Given the description of an element on the screen output the (x, y) to click on. 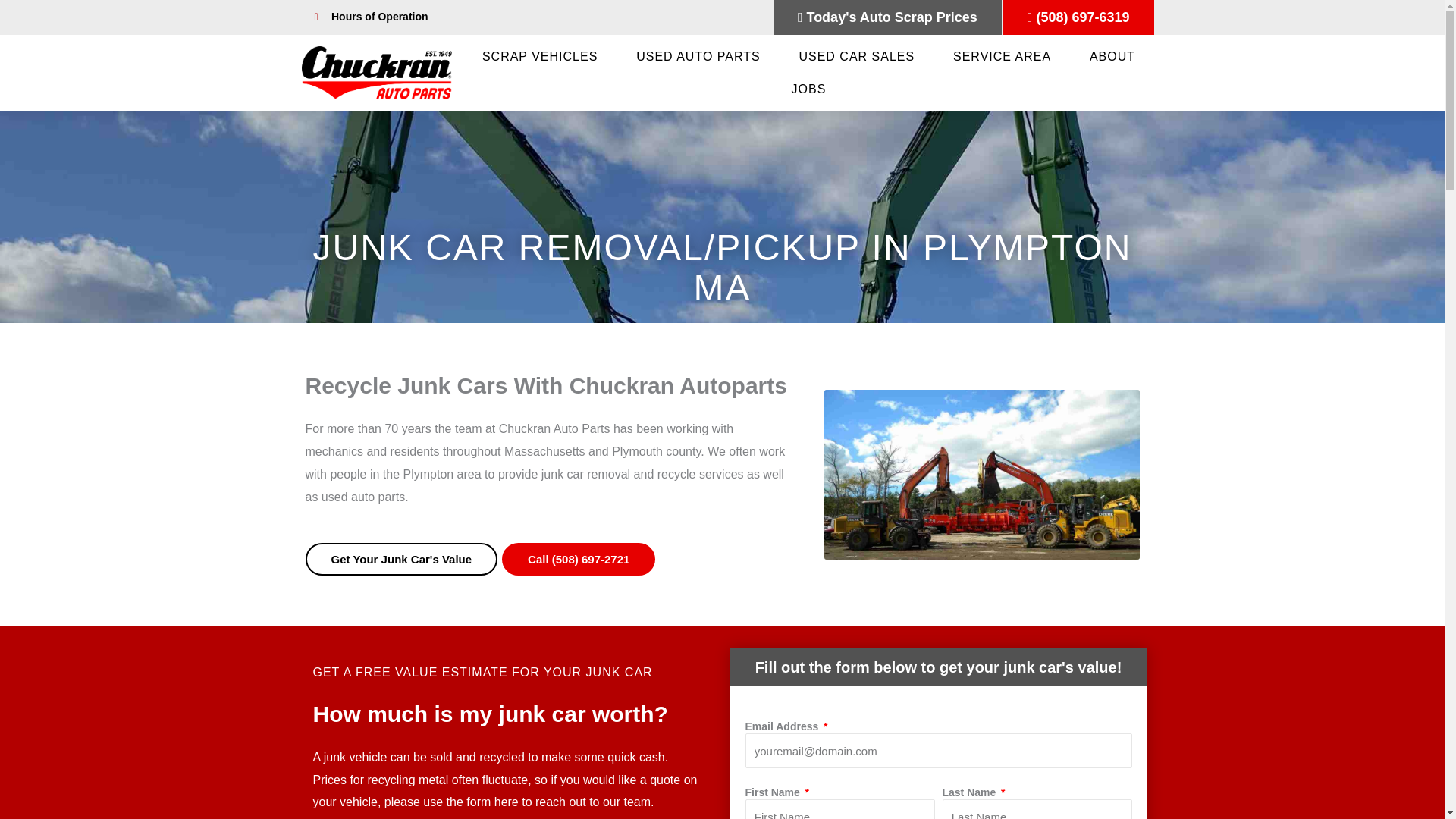
JOBS (808, 89)
USED AUTO PARTS (697, 56)
Today's Auto Scrap Prices (887, 17)
USED CAR SALES (856, 56)
ABOUT (1112, 56)
SERVICE AREA (1002, 56)
SCRAP VEHICLES (539, 56)
Get Your Junk Car's Value (400, 558)
Hours of Operation (505, 17)
